Given the description of an element on the screen output the (x, y) to click on. 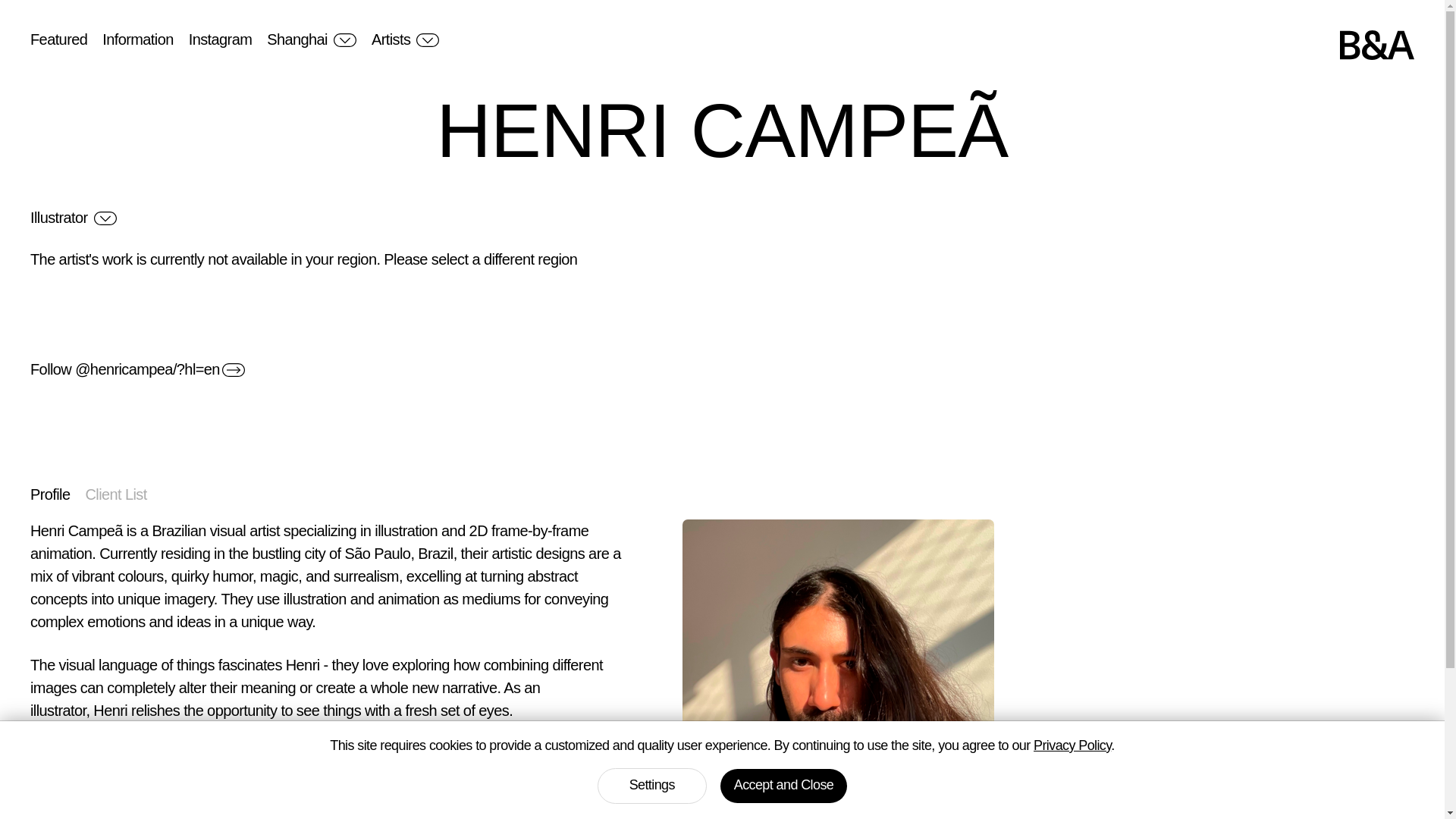
Featured (58, 39)
Instagram (220, 39)
Information (137, 39)
Featured (58, 39)
Information (137, 39)
Instagram (220, 39)
Illustrator (73, 217)
Artists (405, 39)
Shanghai (311, 39)
